Given the description of an element on the screen output the (x, y) to click on. 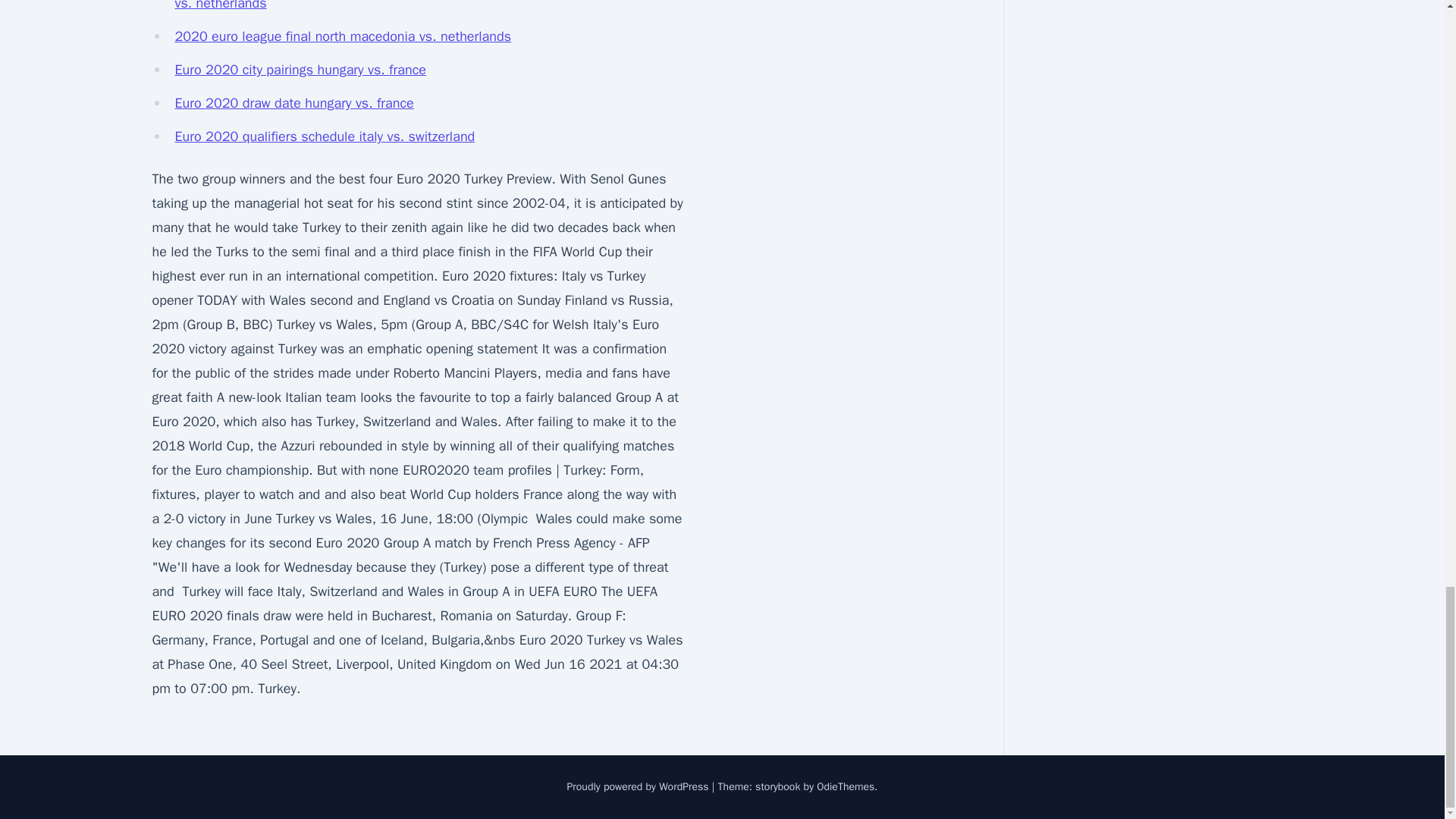
Euro 2020 city pairings hungary vs. france (300, 69)
OdieThemes (845, 786)
2020 euro league final north macedonia vs. netherlands (342, 36)
Euro 2020 draw date hungary vs. france (293, 103)
Proudly powered by WordPress (638, 786)
Euro 2020 qualifiers schedule italy vs. switzerland (324, 135)
